Given the description of an element on the screen output the (x, y) to click on. 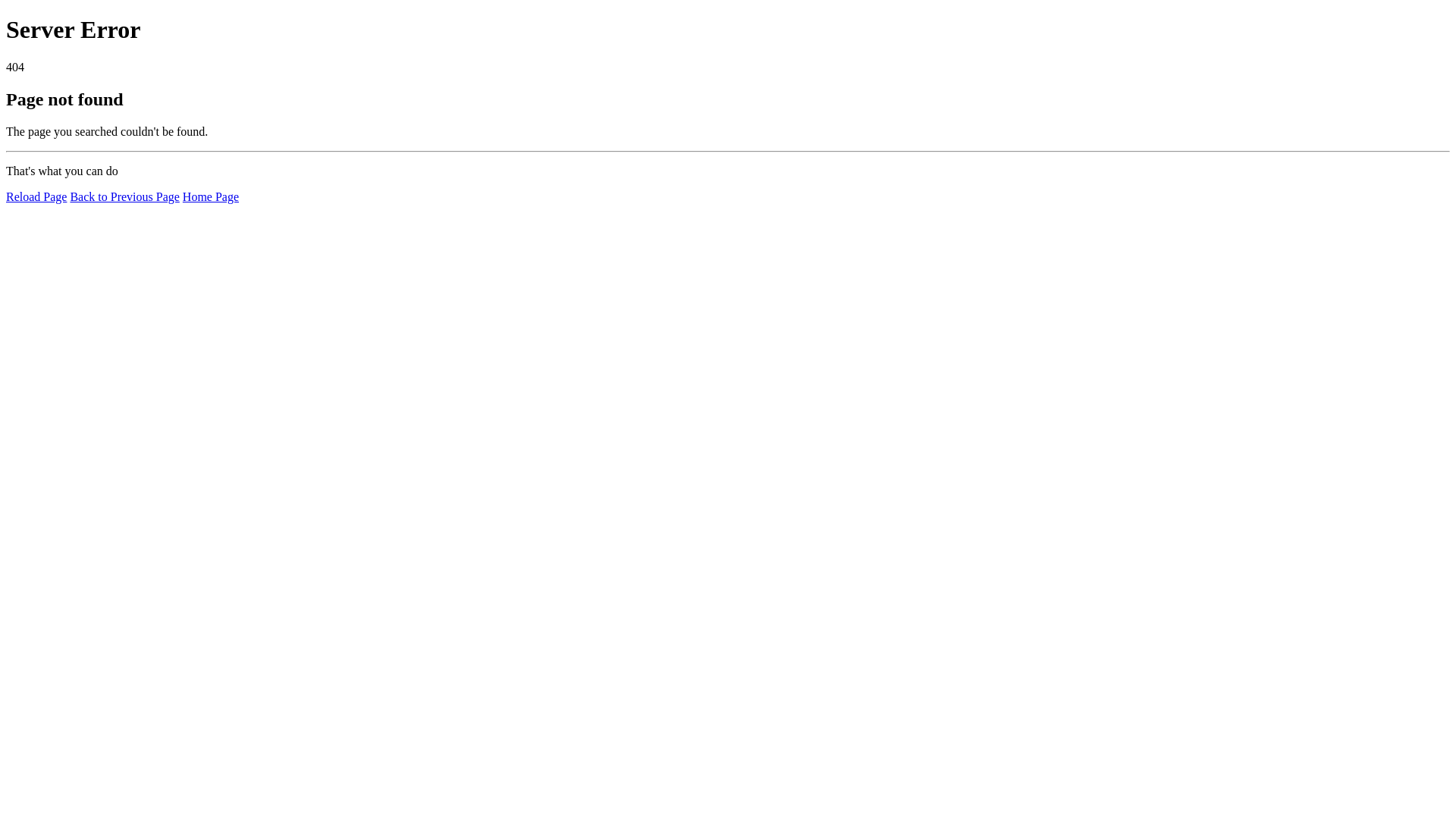
Back to Previous Page Element type: text (123, 196)
Home Page Element type: text (210, 196)
Reload Page Element type: text (36, 196)
